Given the description of an element on the screen output the (x, y) to click on. 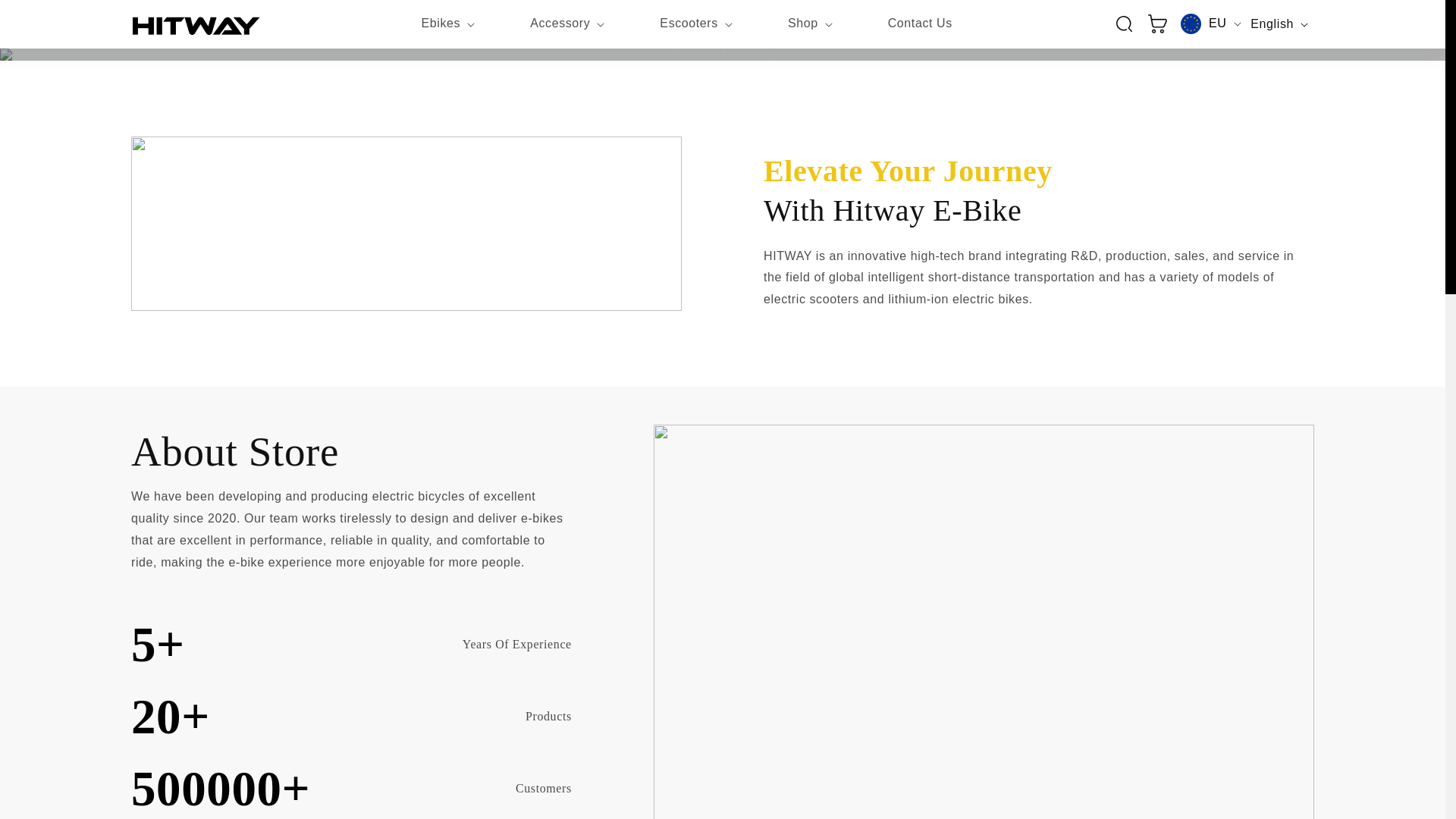
Skip to content (722, 69)
